Given the description of an element on the screen output the (x, y) to click on. 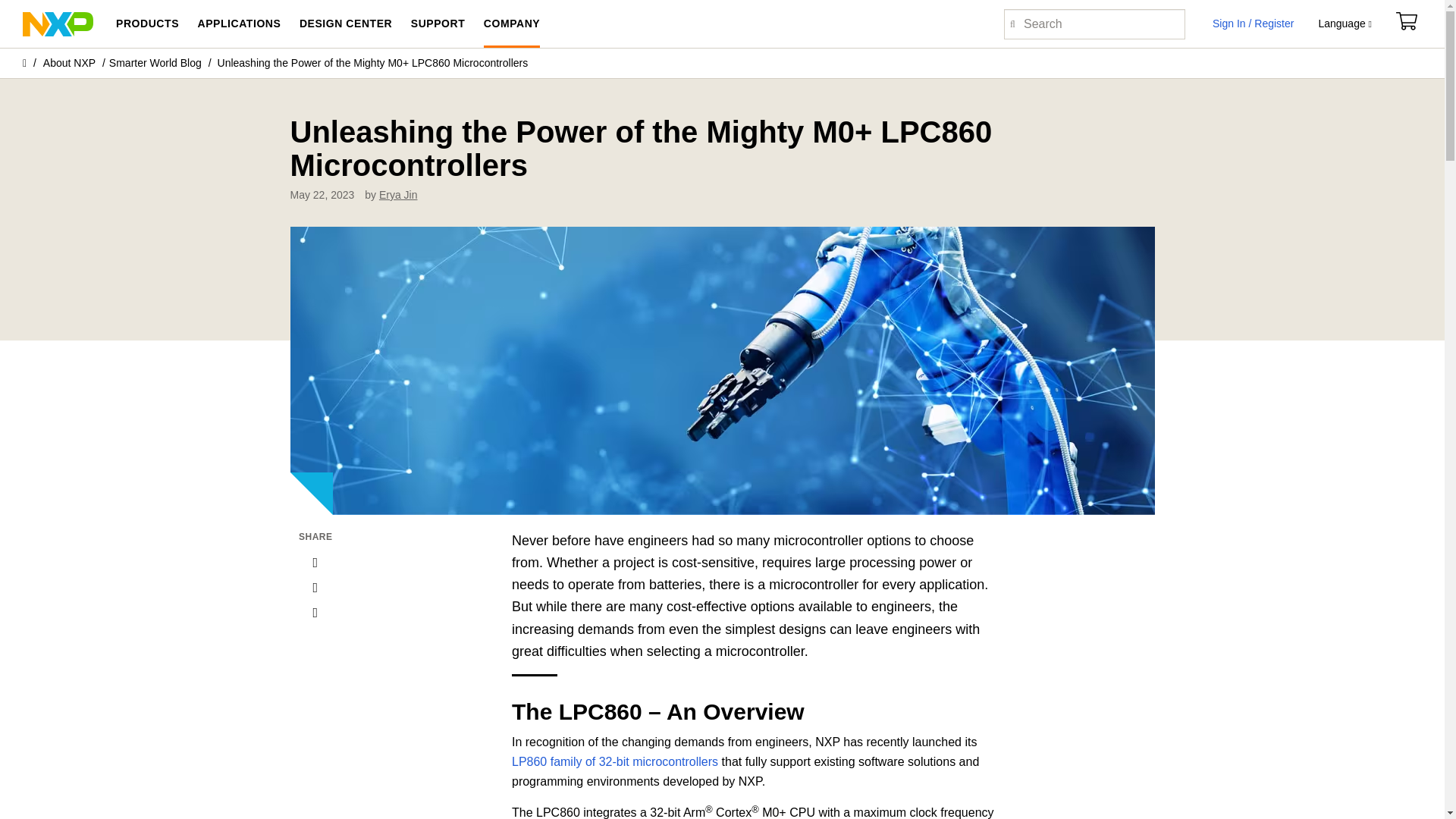
NXP Semiconductor (58, 23)
PRODUCTS (147, 23)
Language  (1344, 23)
COMPANY (511, 23)
DESIGN CENTER (345, 23)
SUPPORT (437, 23)
APPLICATIONS (238, 23)
